Given the description of an element on the screen output the (x, y) to click on. 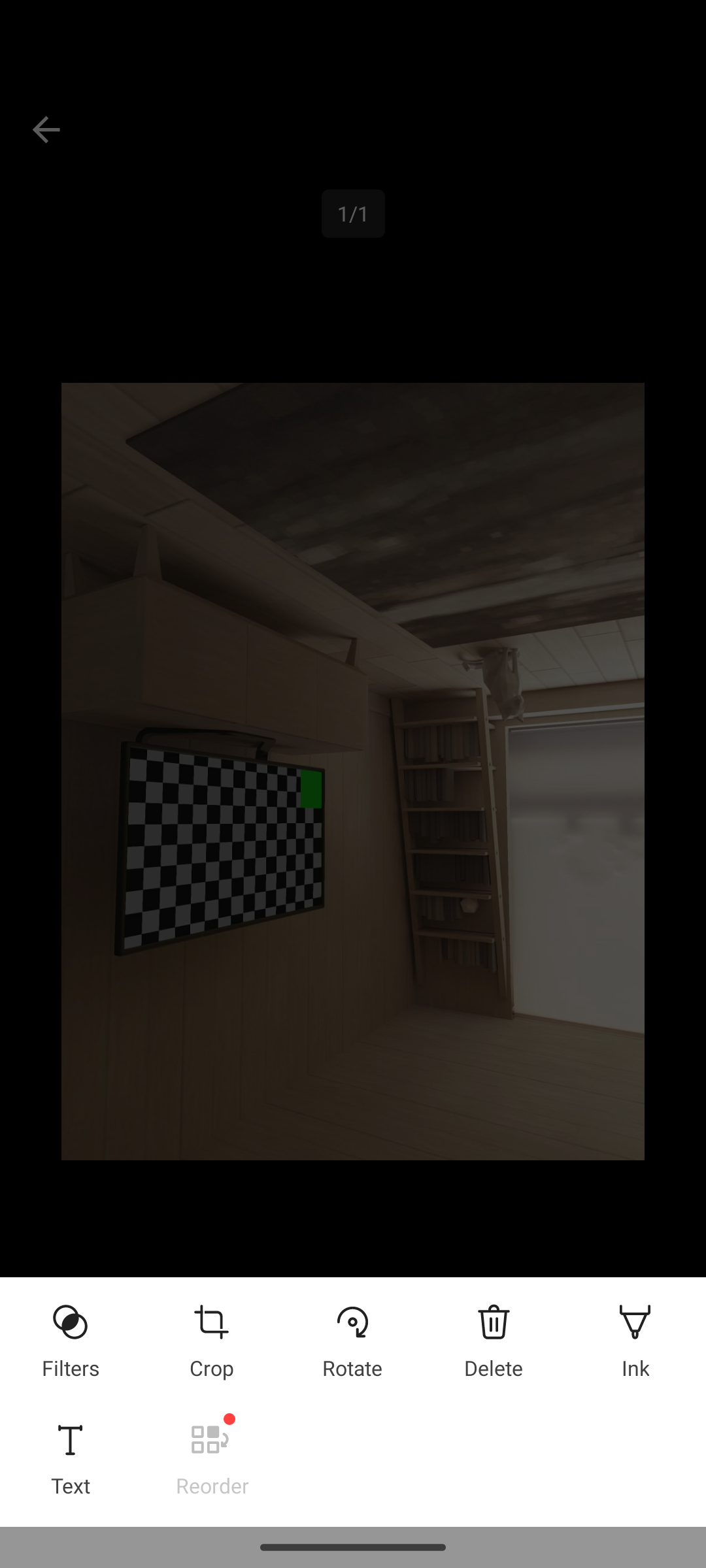
Back (46, 129)
Filters (69, 1335)
Crop (211, 1335)
Rotate (352, 1335)
Delete (493, 1335)
Ink (634, 1335)
Text (69, 1453)
Reorder (211, 1453)
